Given the description of an element on the screen output the (x, y) to click on. 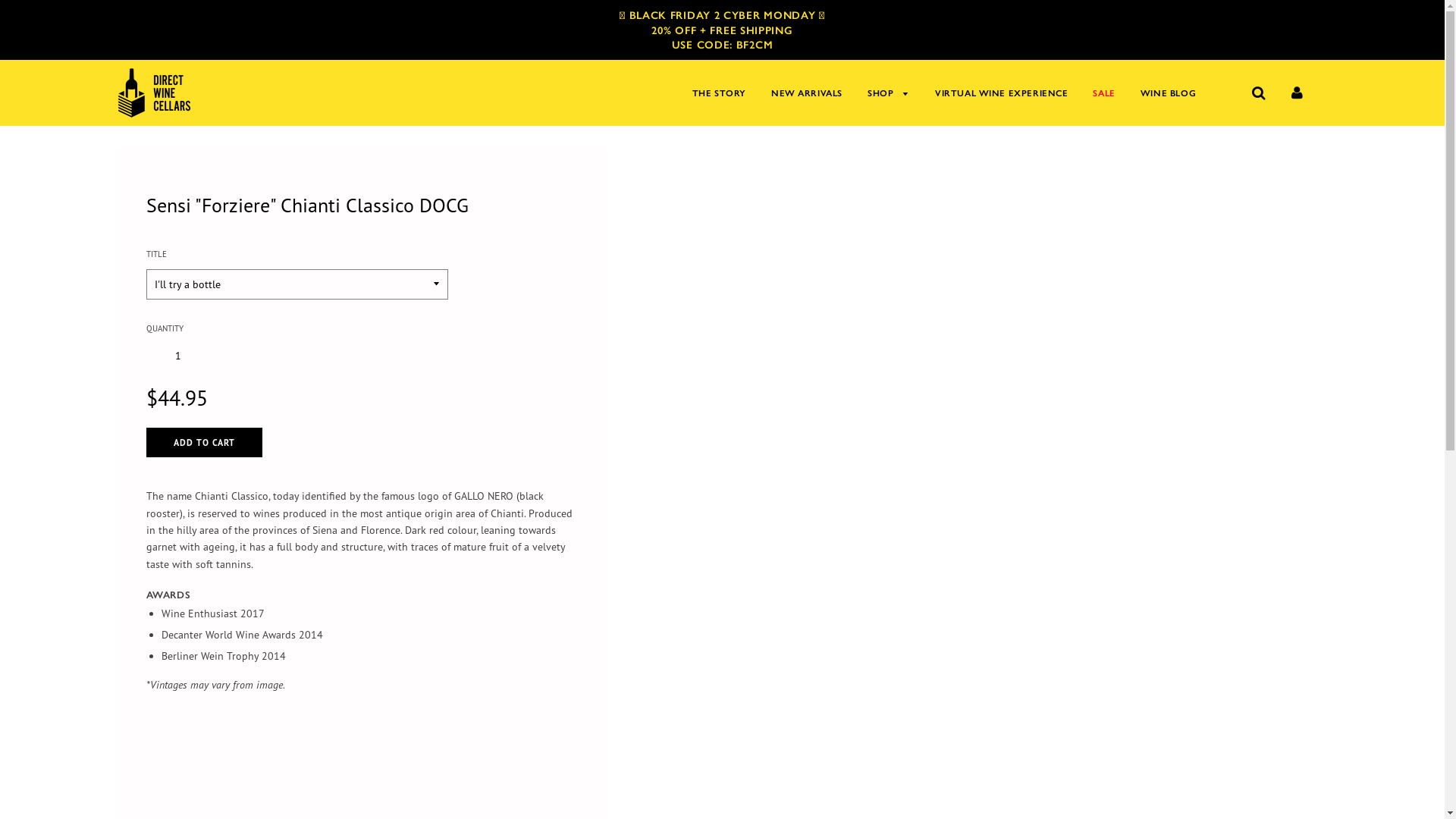
ADD TO CART Element type: text (204, 442)
WINE BLOG Element type: text (1162, 92)
Log in Element type: hover (1297, 91)
VIRTUAL WINE EXPERIENCE Element type: text (1001, 92)
THE STORY Element type: text (718, 92)
SHOP Element type: text (888, 92)
SALE Element type: text (1103, 92)
NEW ARRIVALS Element type: text (806, 92)
